Given the description of an element on the screen output the (x, y) to click on. 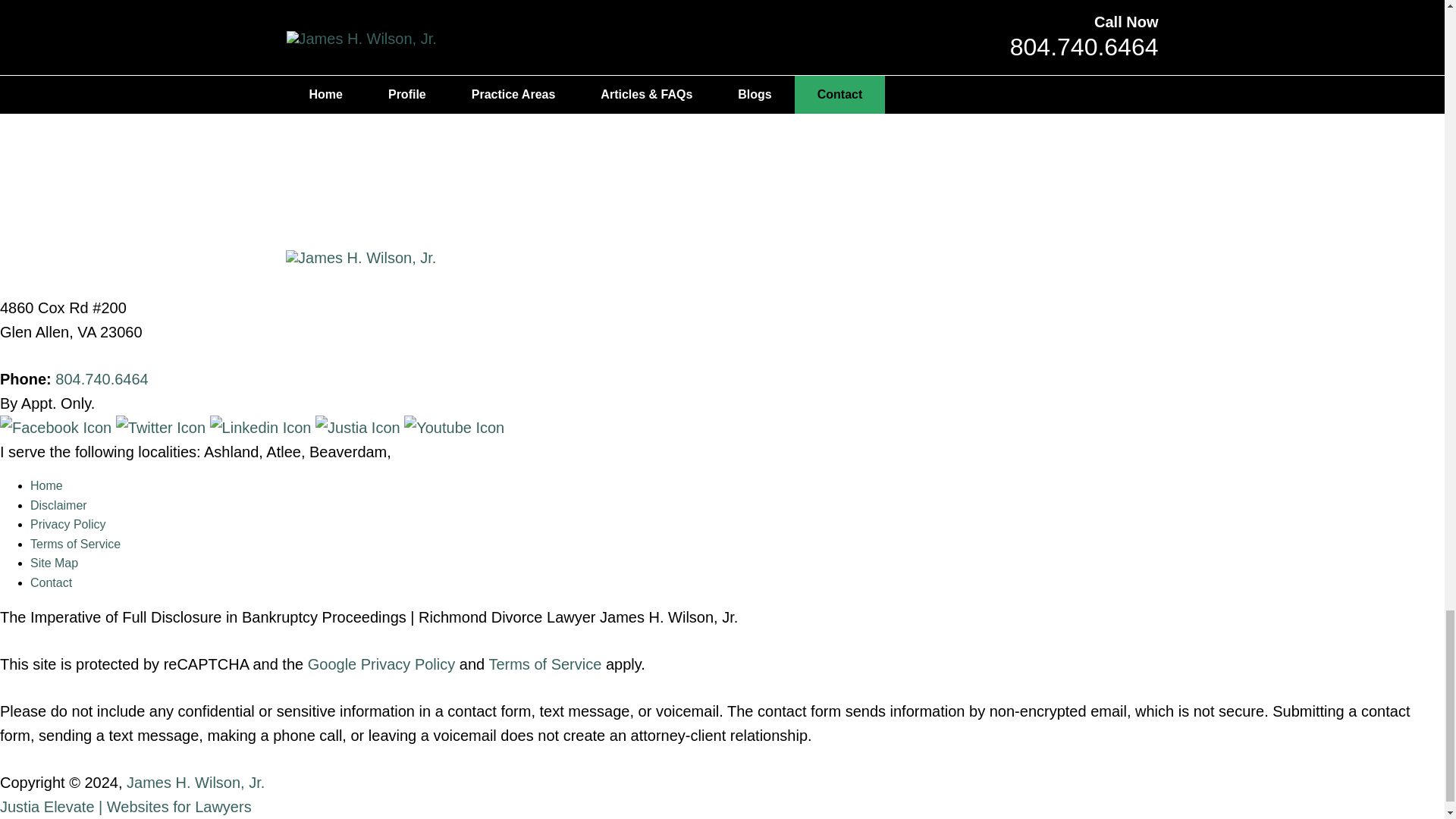
Terms of Service (75, 543)
Youtube (453, 427)
Twitter (162, 427)
Justia (359, 427)
Facebook (58, 427)
Home (46, 485)
Contact Us Now (721, 93)
Linkedin (262, 427)
804.740.6464 (101, 379)
Disclaimer (58, 504)
Privacy Policy (68, 523)
